Given the description of an element on the screen output the (x, y) to click on. 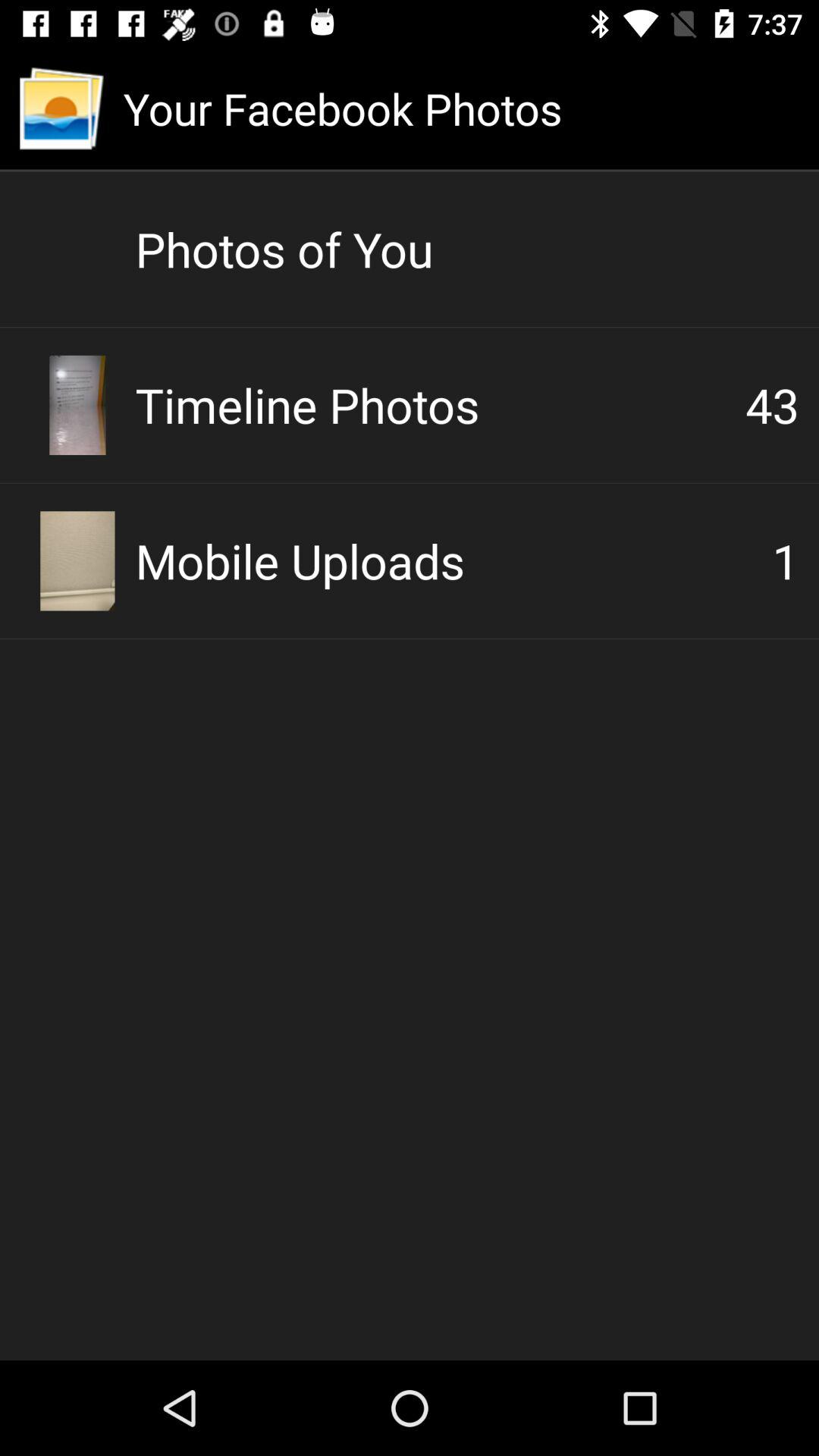
select icon next to the 1 icon (453, 560)
